Given the description of an element on the screen output the (x, y) to click on. 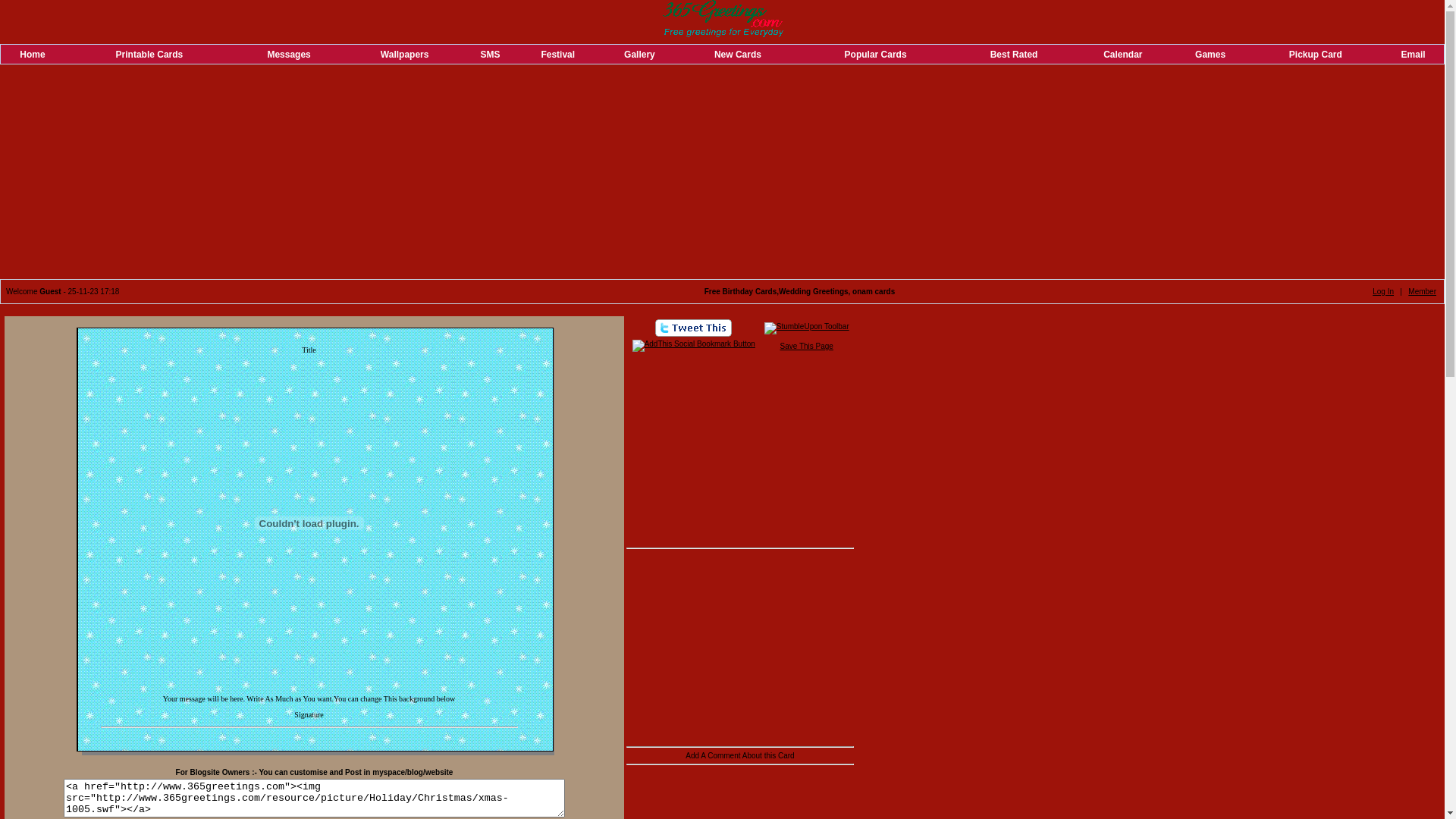
Advertisement Element type: hover (721, 172)
Wallpapers Element type: text (404, 53)
New Cards Element type: text (737, 53)
Messages Element type: text (288, 53)
Email Element type: text (1413, 53)
Gallery Element type: text (639, 53)
Home Element type: text (31, 53)
Advertisement Element type: hover (308, 737)
Member Element type: text (1422, 291)
Advertisement Element type: hover (739, 448)
Printable Cards Element type: text (149, 53)
Save This Page Element type: text (806, 345)
Games Element type: text (1210, 53)
Pickup Card Element type: text (1315, 53)
Advertisement Element type: hover (739, 647)
Best Rated Element type: text (1014, 53)
Festival Element type: text (557, 53)
SMS Element type: text (490, 53)
Calendar Element type: text (1122, 53)
Popular Cards Element type: text (875, 53)
Log In Element type: text (1382, 291)
